Given the description of an element on the screen output the (x, y) to click on. 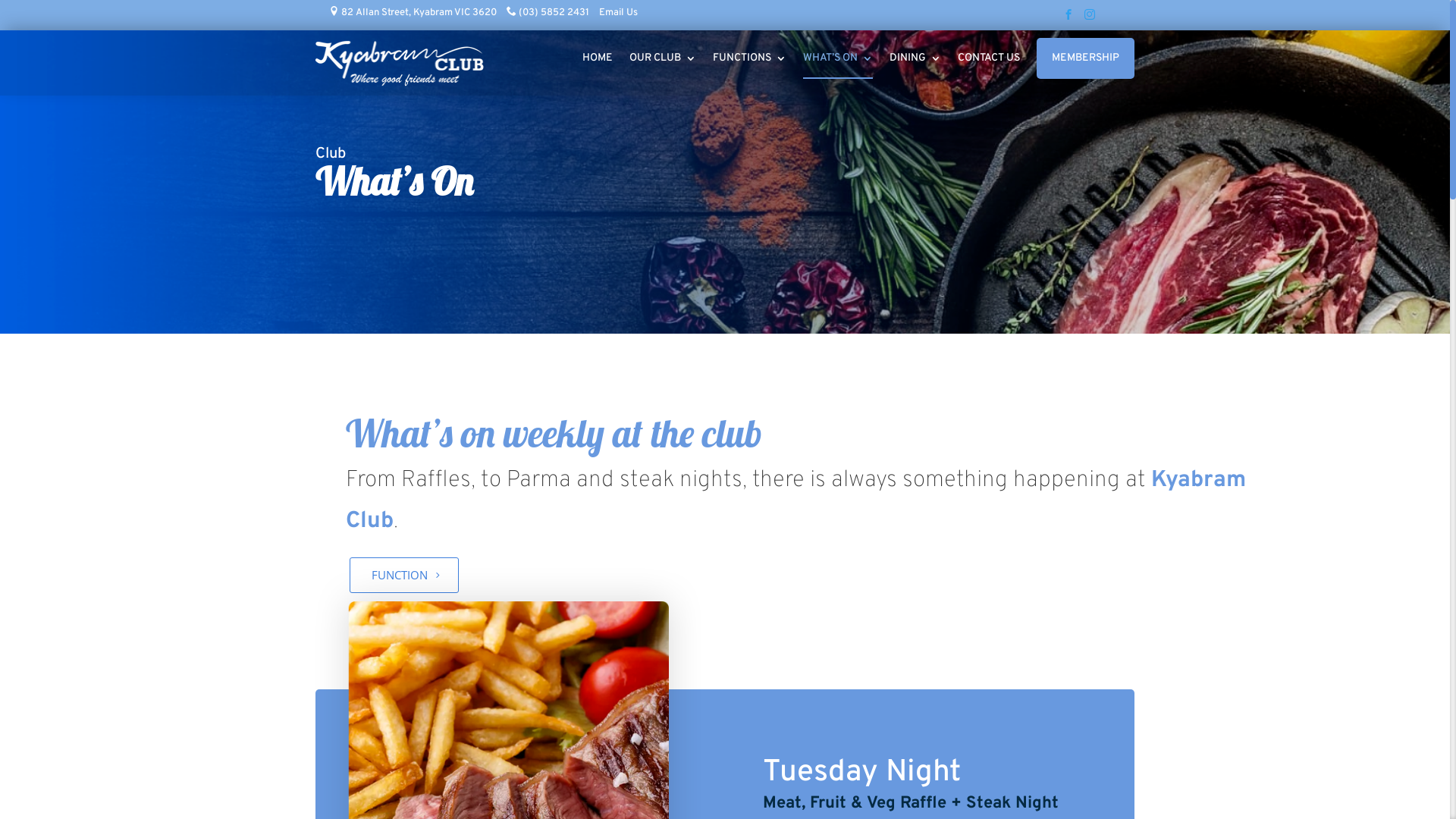
HOME Element type: text (597, 65)
FUNCTION Element type: text (403, 575)
Email Us Element type: text (618, 12)
MEMBERSHIP Element type: text (1085, 57)
OUR CLUB Element type: text (662, 65)
(03) 5852 2431 Element type: text (547, 12)
DINING Element type: text (915, 65)
FUNCTIONS Element type: text (749, 65)
82 Allan Street, Kyabram VIC 3620 Element type: text (412, 12)
CONTACT US Element type: text (988, 65)
logo Element type: hover (400, 62)
